Given the description of an element on the screen output the (x, y) to click on. 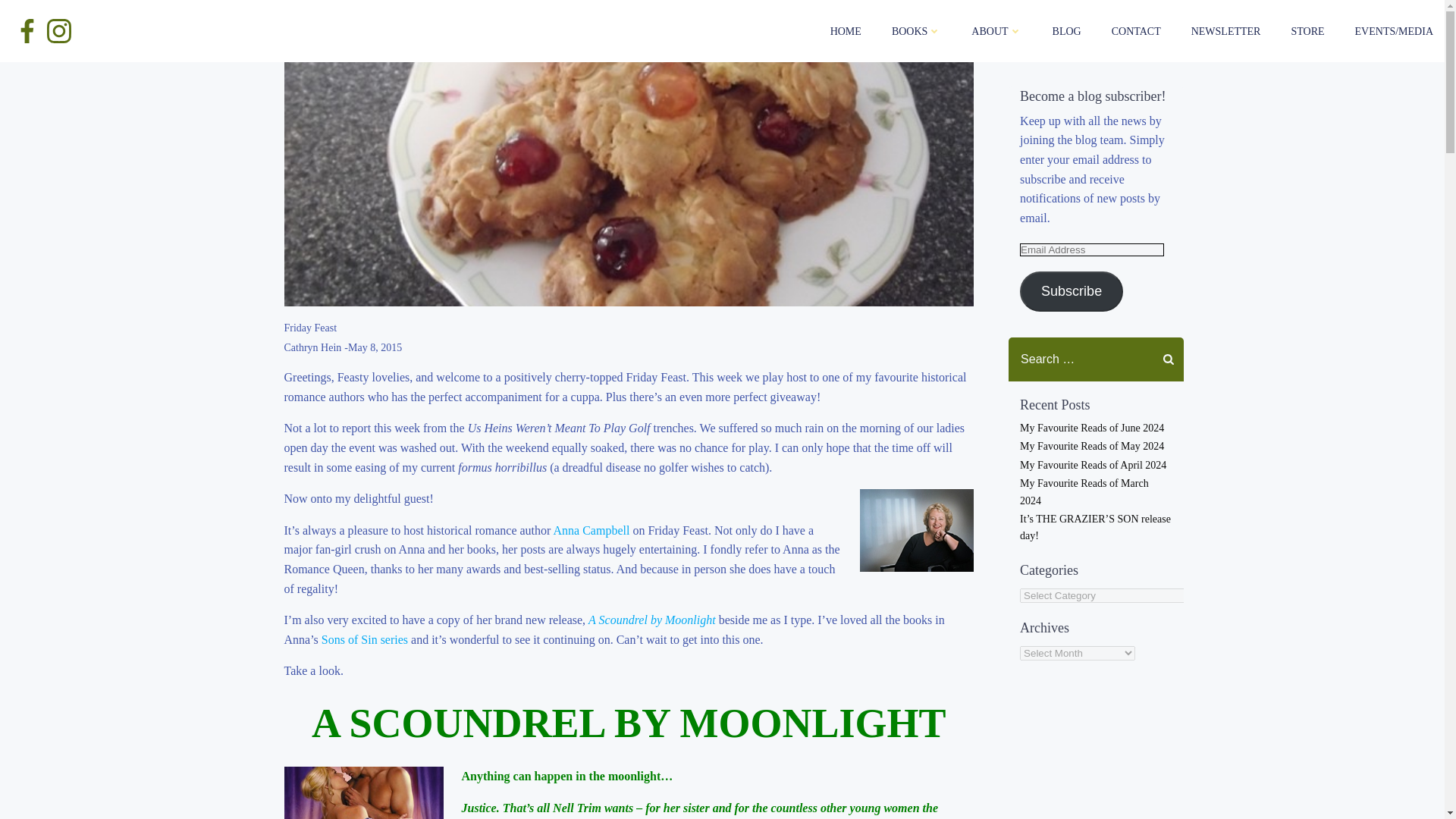
Anna Campbell (593, 530)
May 8, 2015 (374, 347)
ABOUT (996, 30)
A Scoundrel by Moonlight (652, 619)
HOME (845, 30)
Cathryn Hein (311, 347)
STORE (1306, 30)
BLOG (1066, 30)
BOOKS (915, 30)
CONTACT (1136, 30)
Friday Feast (309, 327)
NEWSLETTER (1225, 30)
